Given the description of an element on the screen output the (x, y) to click on. 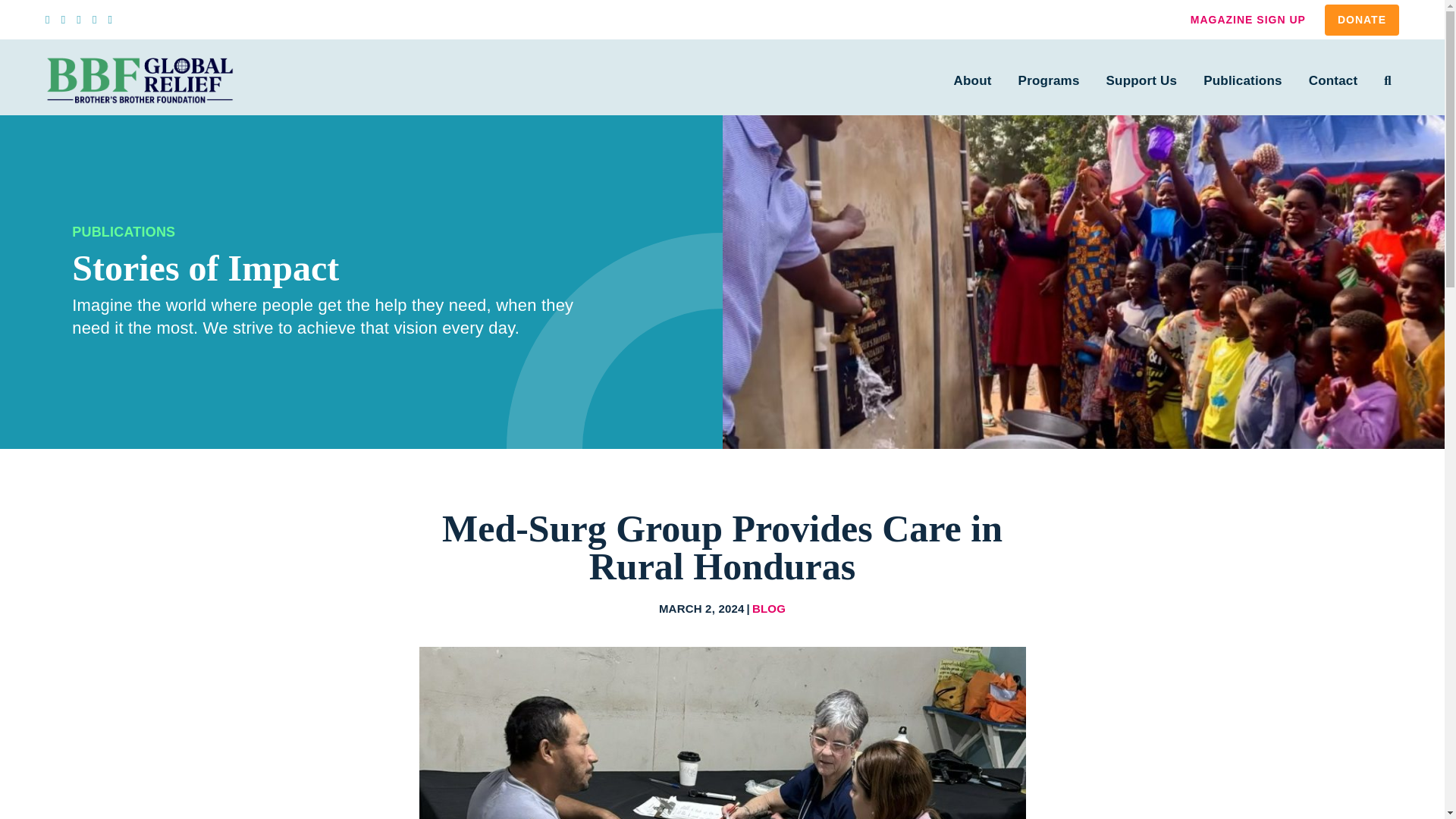
Cutting Edge Relief 1 (722, 733)
Programs (1047, 81)
DONATE (1361, 20)
MAGAZINE SIGN UP (1248, 19)
BBF TransitionLogo Green Navy Rgbx3 (139, 79)
Support Us (1139, 81)
About (970, 81)
Publications (1240, 81)
